Given the description of an element on the screen output the (x, y) to click on. 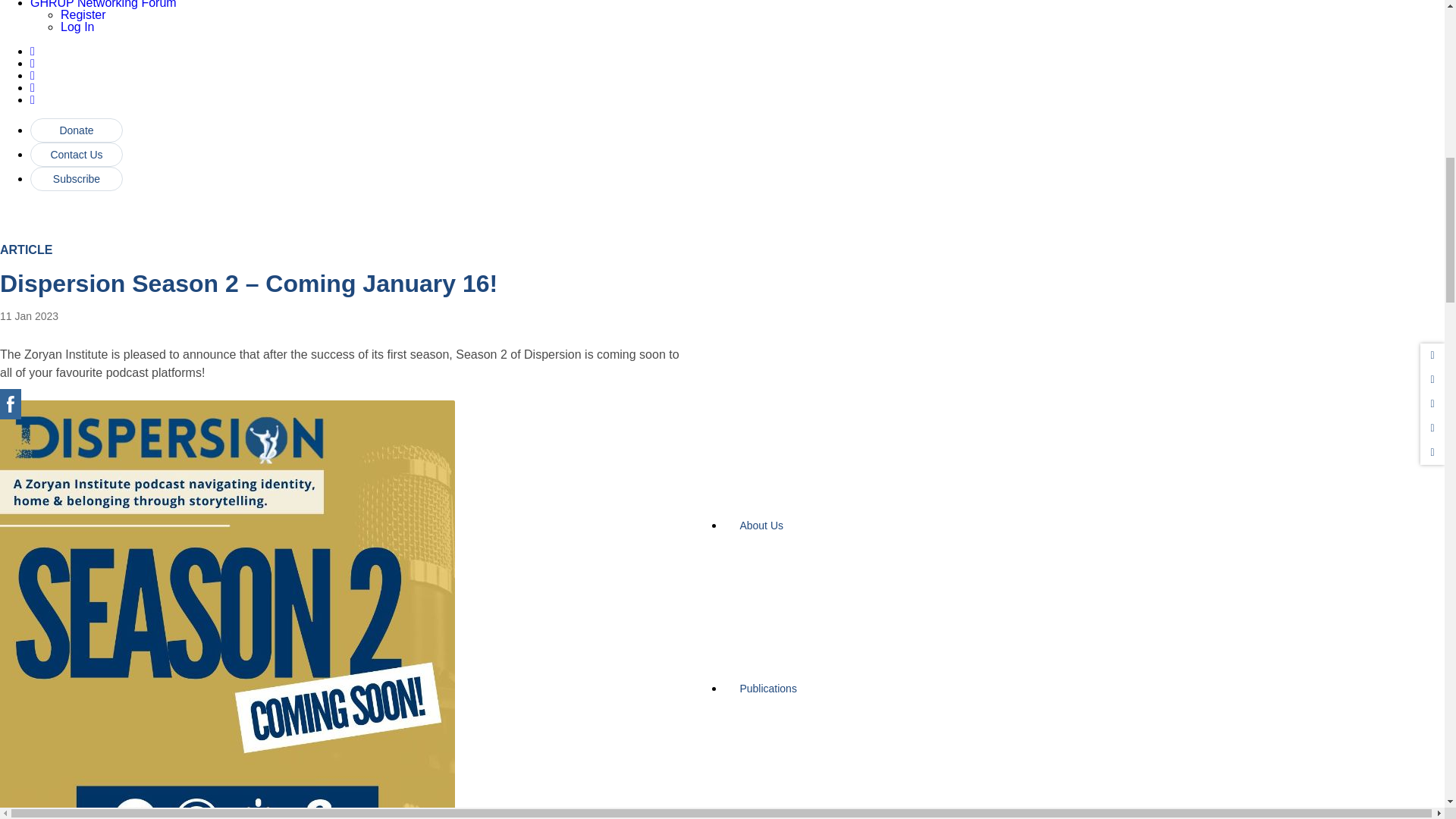
About Us (808, 531)
